Given the description of an element on the screen output the (x, y) to click on. 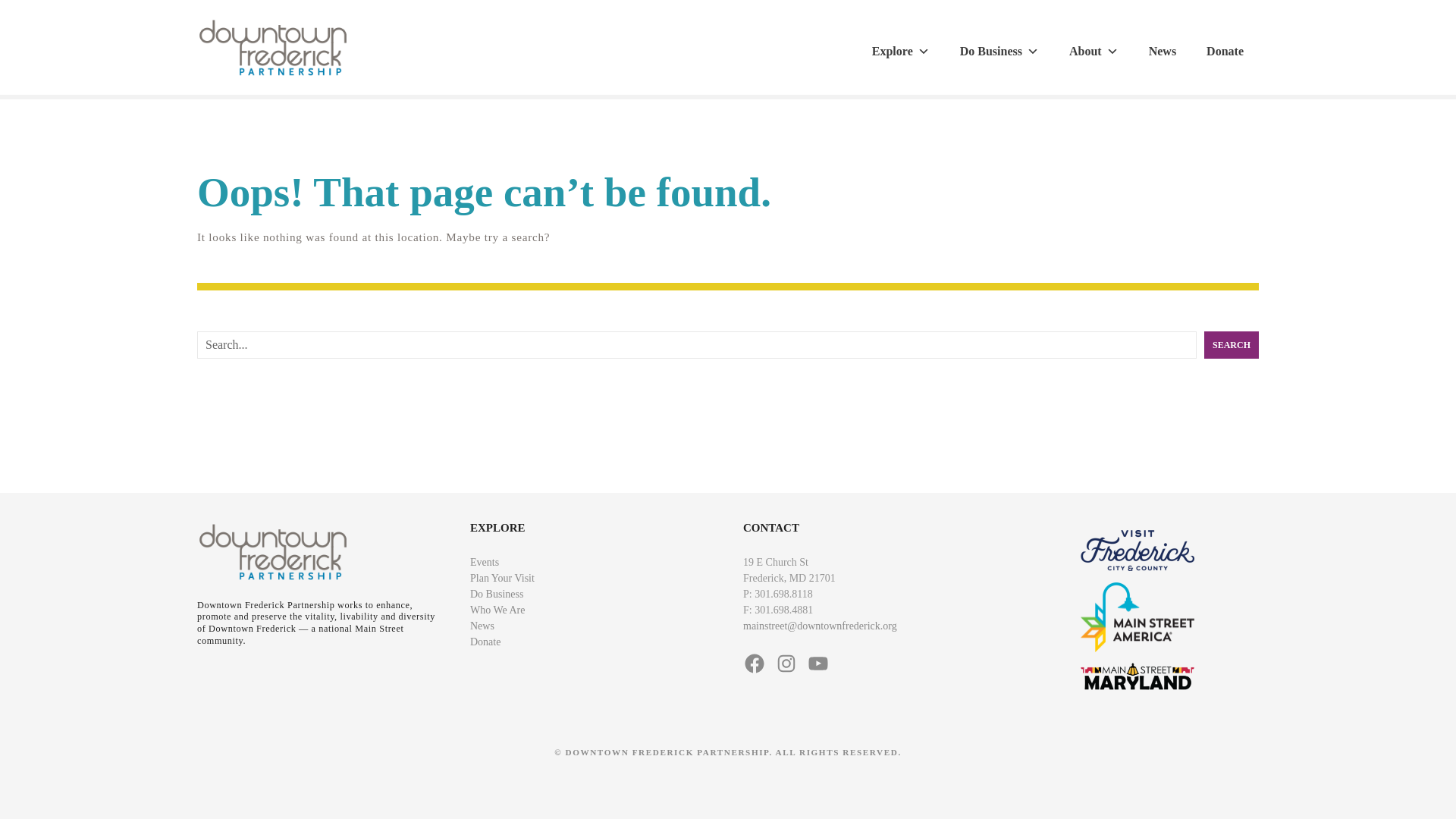
Explore (900, 51)
Do Business (999, 51)
